Given the description of an element on the screen output the (x, y) to click on. 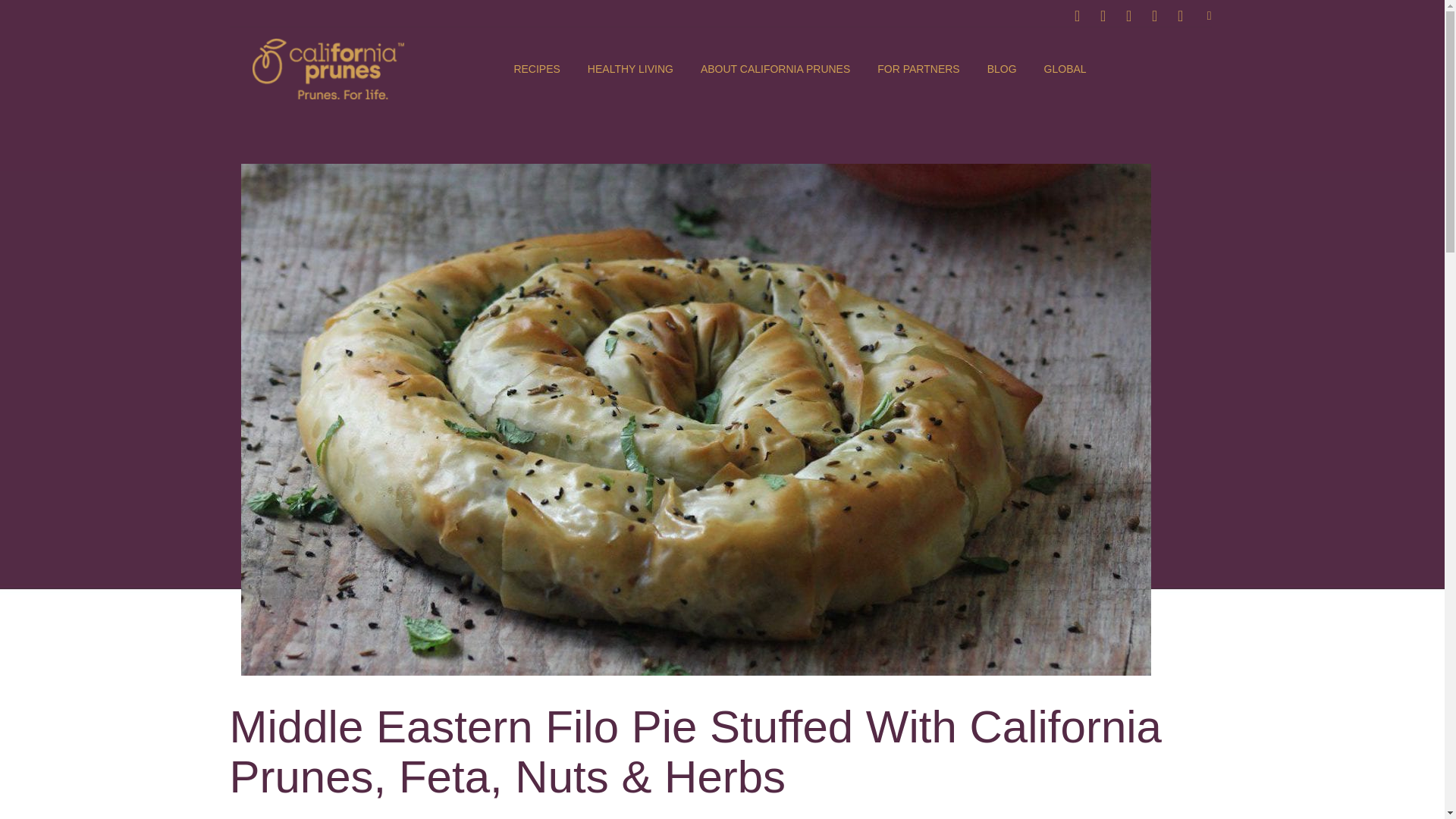
YouTube page opens in new window (1154, 15)
Linkedin page opens in new window (1180, 15)
Linkedin page opens in new window (1180, 15)
Instagram page opens in new window (1103, 15)
Pinterest page opens in new window (1129, 15)
Go! (26, 18)
HEALTHY LIVING (631, 68)
FOR PARTNERS (918, 68)
Instagram page opens in new window (1103, 15)
ABOUT CALIFORNIA PRUNES (775, 68)
